Given the description of an element on the screen output the (x, y) to click on. 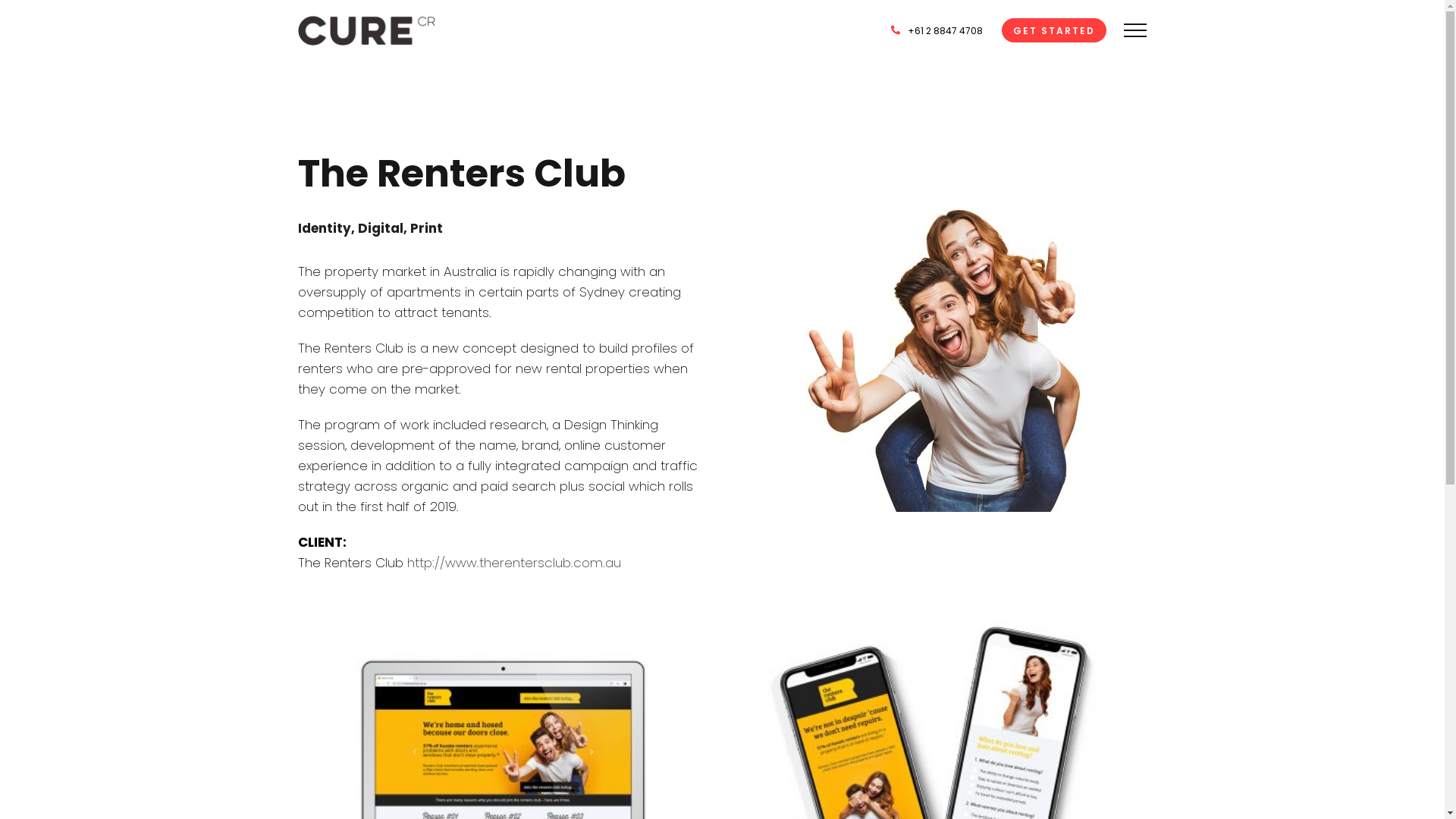
http://www.therentersclub.com.au Element type: text (513, 562)
GET STARTED Element type: text (1053, 30)
renters_folio_right_ Element type: hover (943, 331)
